Given the description of an element on the screen output the (x, y) to click on. 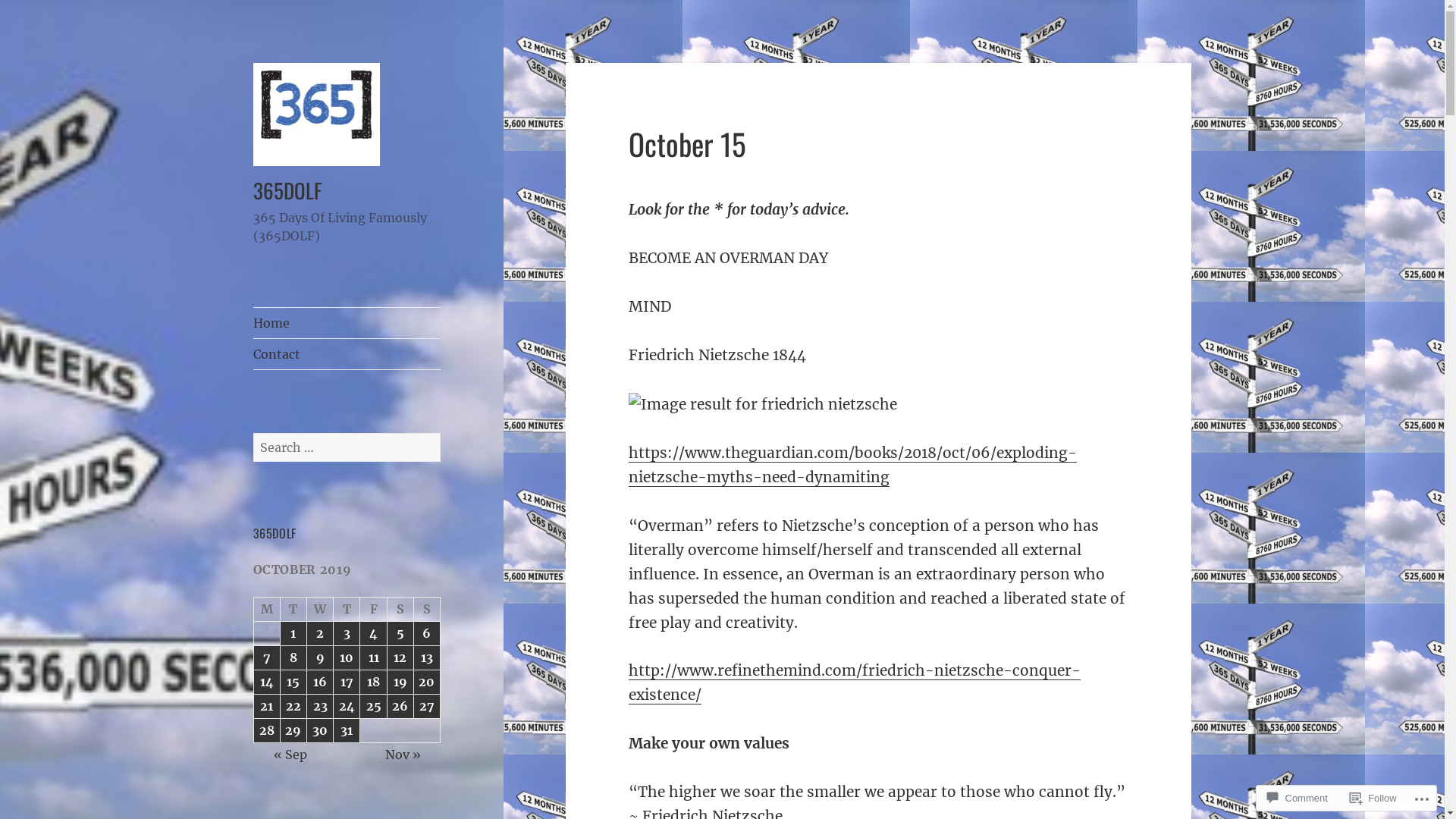
20 Element type: text (426, 681)
8 Element type: text (293, 657)
19 Element type: text (400, 681)
26 Element type: text (400, 706)
15 Element type: text (293, 681)
365DOLF Element type: text (287, 190)
Contact Element type: text (347, 353)
3 Element type: text (346, 633)
30 Element type: text (319, 730)
17 Element type: text (346, 681)
Home Element type: text (347, 322)
6 Element type: text (426, 633)
29 Element type: text (293, 730)
18 Element type: text (372, 681)
4 Element type: text (372, 633)
7 Element type: text (266, 657)
21 Element type: text (266, 706)
27 Element type: text (426, 706)
11 Element type: text (372, 657)
9 Element type: text (319, 657)
14 Element type: text (266, 681)
24 Element type: text (346, 706)
31 Element type: text (346, 730)
Comment Element type: text (1296, 797)
23 Element type: text (319, 706)
16 Element type: text (319, 681)
Follow Element type: text (1372, 797)
22 Element type: text (293, 706)
10 Element type: text (346, 657)
25 Element type: text (372, 706)
28 Element type: text (266, 730)
5 Element type: text (400, 633)
13 Element type: text (426, 657)
12 Element type: text (400, 657)
2 Element type: text (319, 633)
1 Element type: text (293, 633)
